Given the description of an element on the screen output the (x, y) to click on. 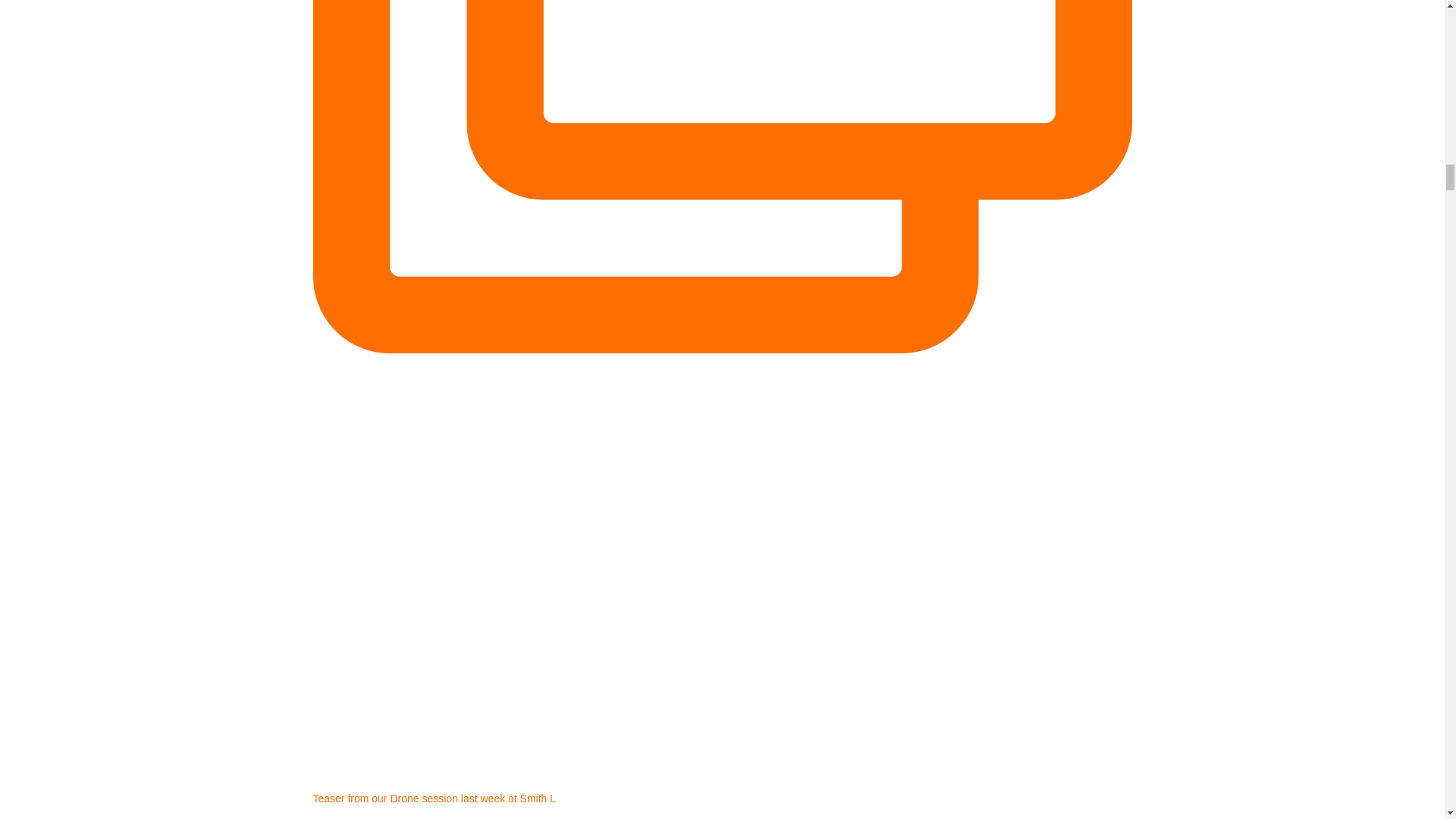
Teaser from our Drone session last week at Smith L (722, 805)
